Given the description of an element on the screen output the (x, y) to click on. 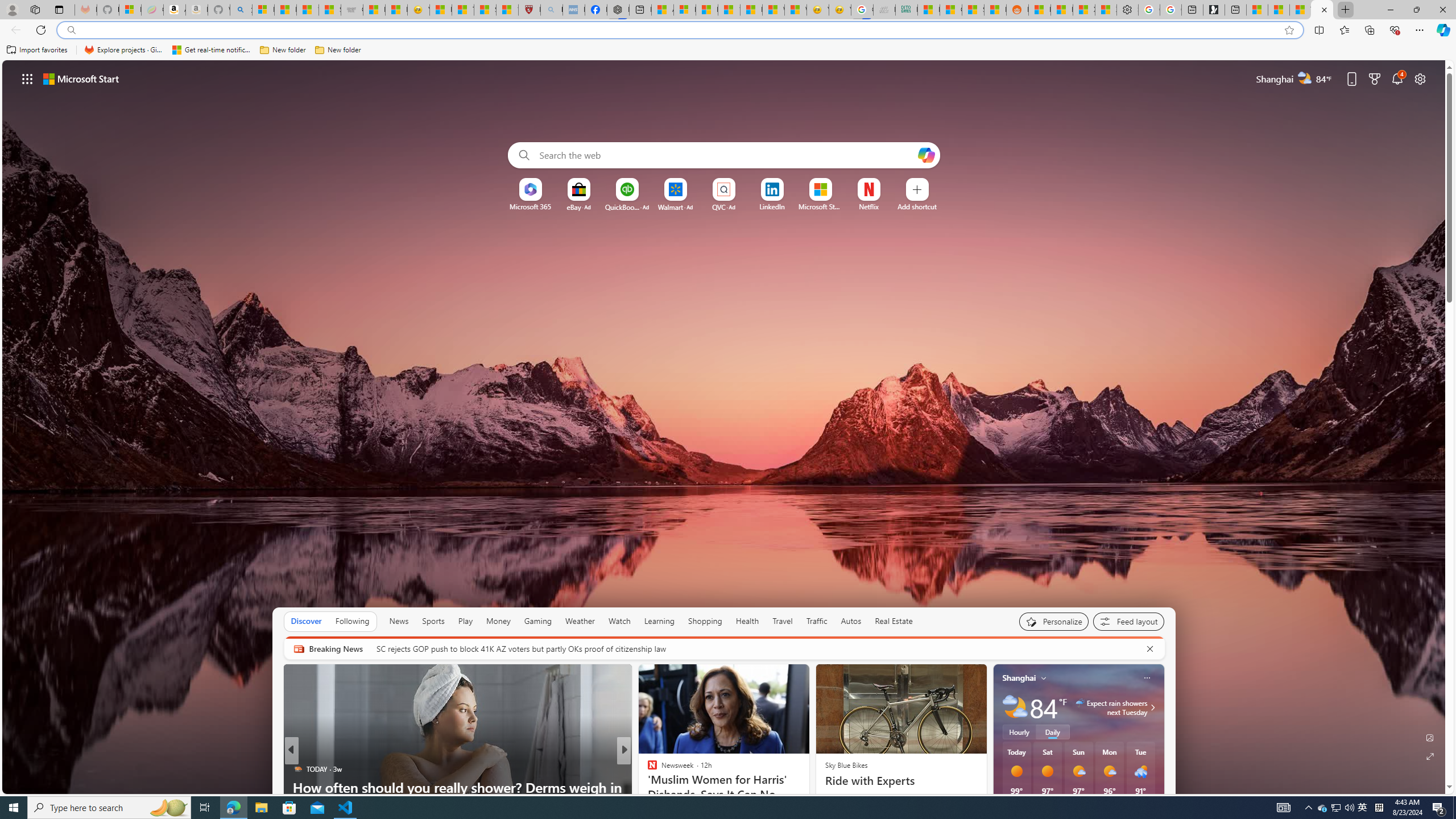
save70.com (660, 786)
R******* | Trusted Community Engagement and Contributions (1039, 9)
Ride with Experts (900, 780)
Microsoft rewards (1374, 78)
Class: icon-img (1146, 677)
Fitness - MSN (751, 9)
Nordace (655, 786)
